Given the description of an element on the screen output the (x, y) to click on. 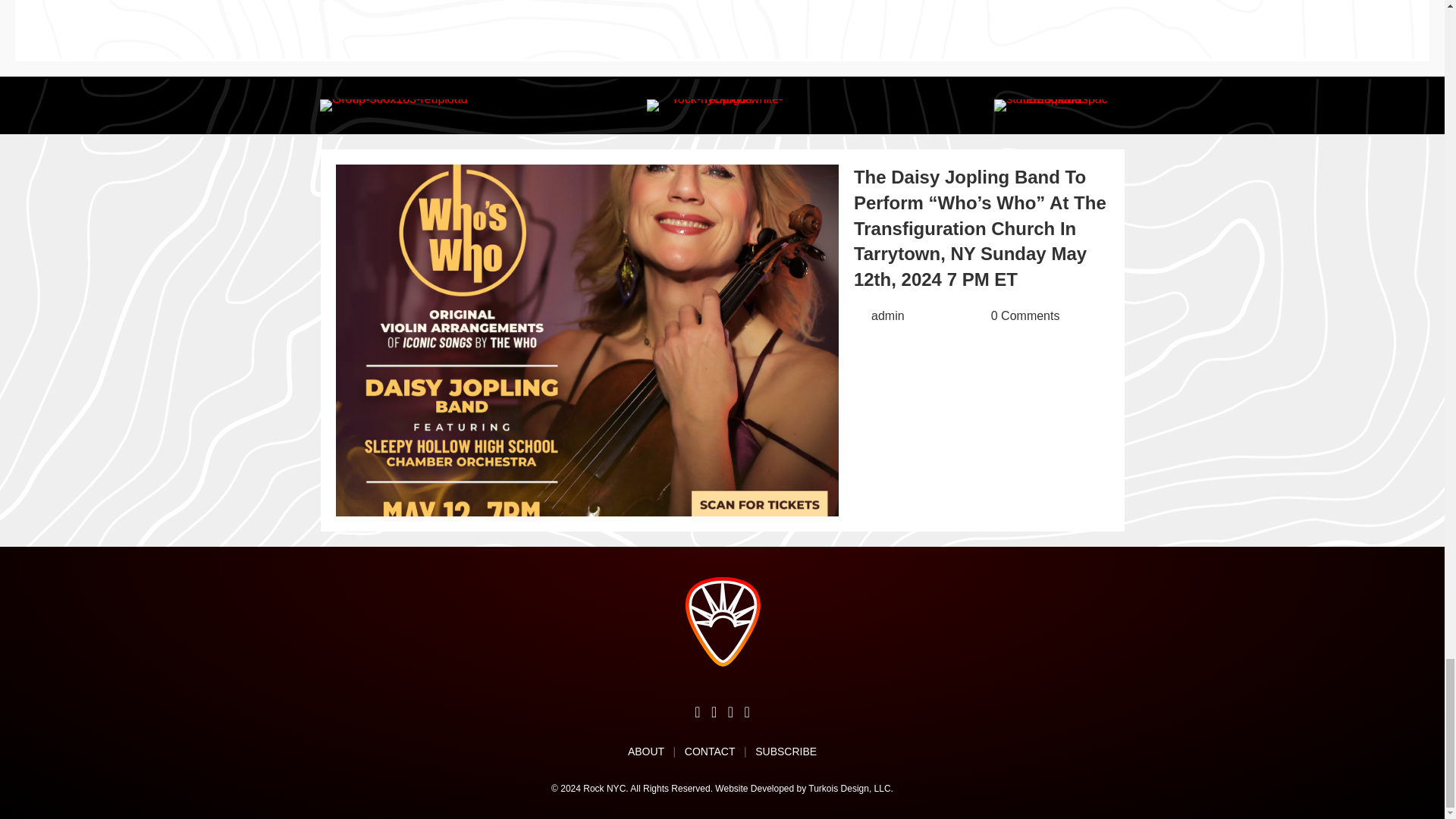
static1.squarespace-500x371-reupload (1051, 105)
rock-nyc-logo-white-reupload (721, 105)
Group-500x103-reupload (393, 105)
